Given the description of an element on the screen output the (x, y) to click on. 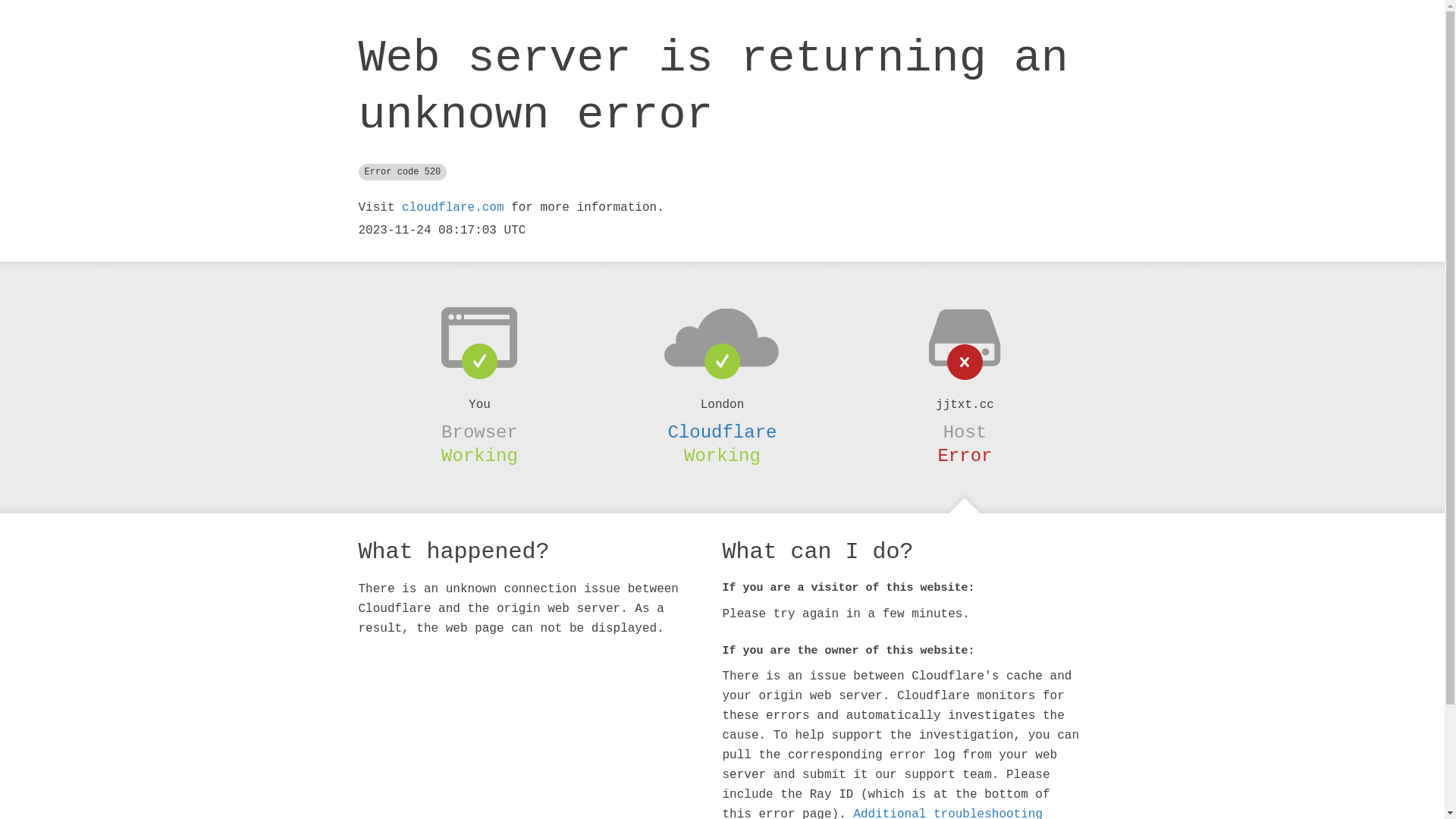
Cloudflare Element type: text (721, 432)
cloudflare.com Element type: text (452, 207)
